Given the description of an element on the screen output the (x, y) to click on. 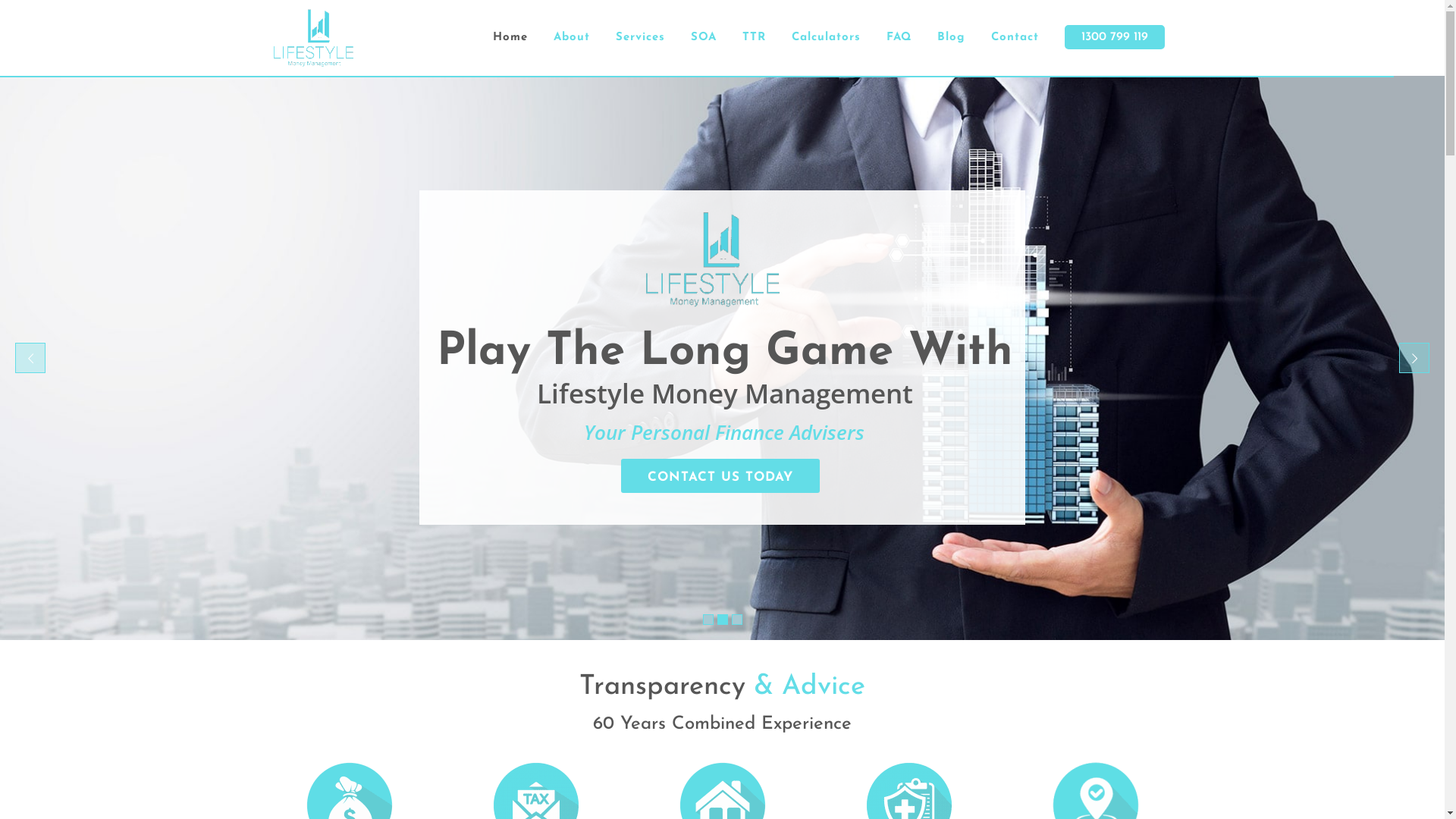
SOA Element type: text (703, 37)
1300 799 119 Element type: text (1114, 37)
1300 799 119 Element type: text (1113, 37)
Blog Element type: text (950, 37)
TTR Element type: text (753, 37)
CONTACT US TODAY Element type: text (720, 475)
Contact Element type: text (1014, 37)
FAQ Element type: text (898, 37)
About Element type: text (570, 37)
Calculators Element type: text (825, 37)
Home Element type: text (509, 37)
Services Element type: text (639, 37)
